Given the description of an element on the screen output the (x, y) to click on. 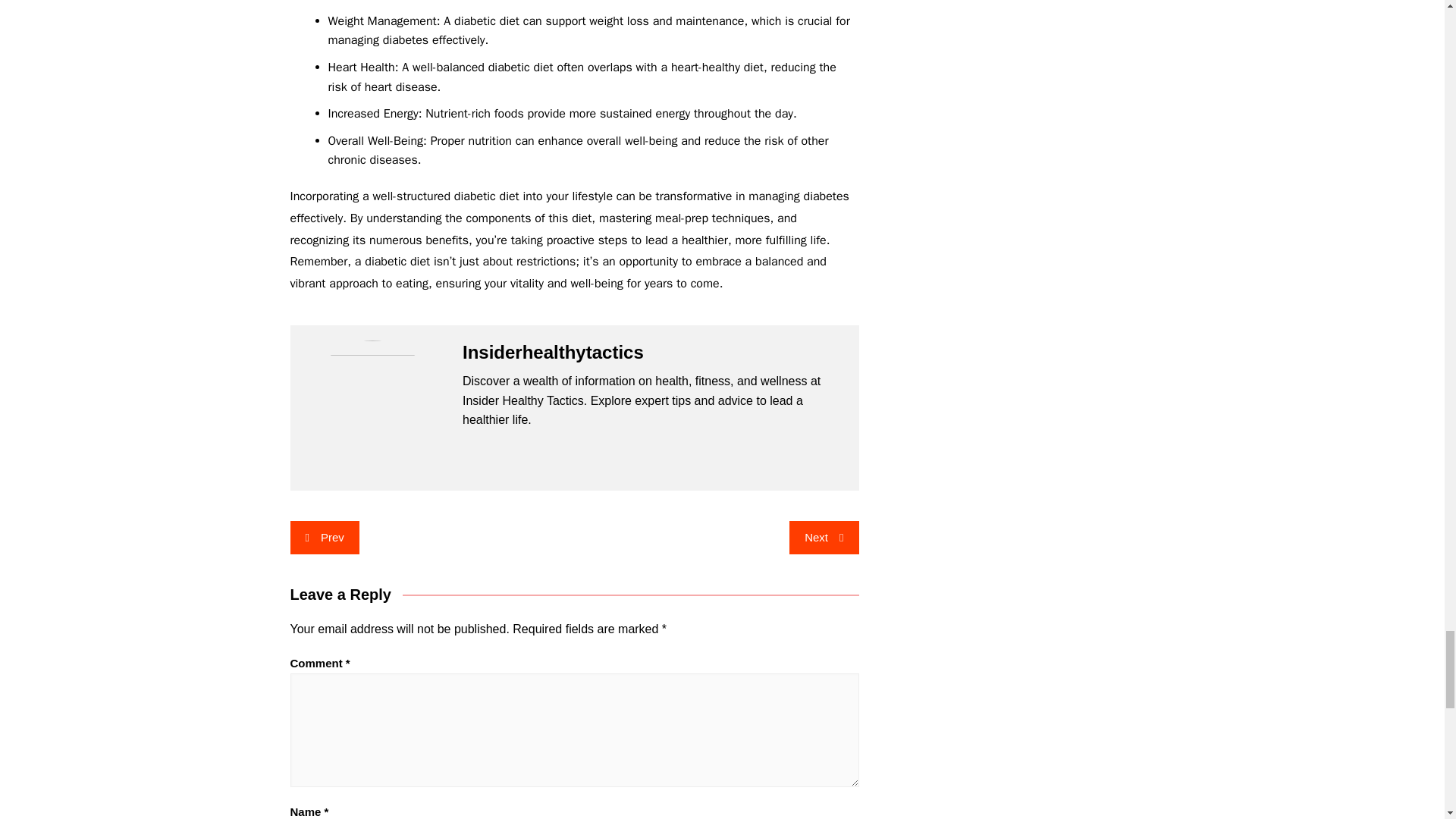
Next (824, 536)
Prev (323, 536)
